Given the description of an element on the screen output the (x, y) to click on. 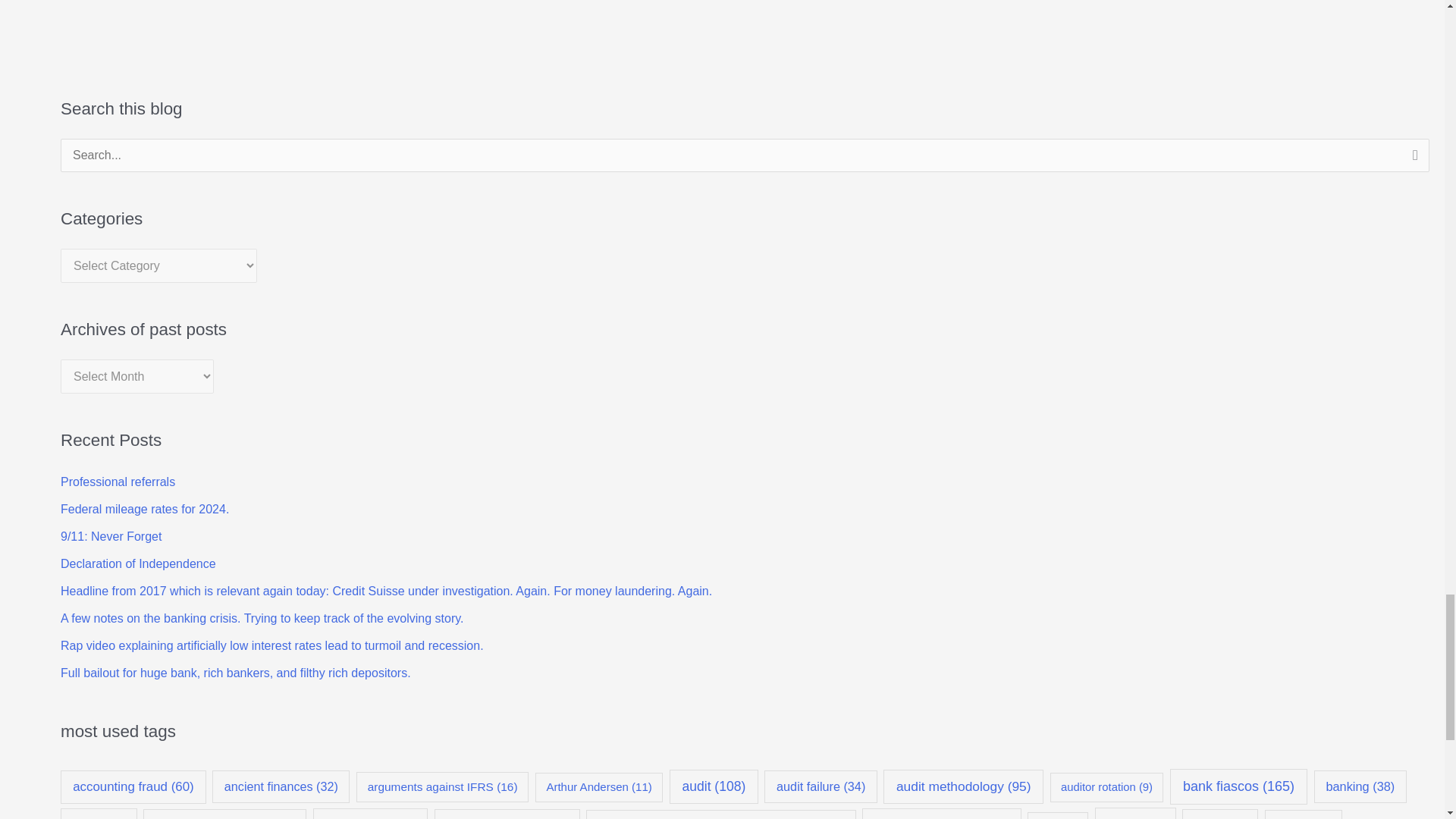
Declaration of Independence (138, 563)
Professional referrals (117, 481)
Federal mileage rates for 2024. (144, 508)
